Given the description of an element on the screen output the (x, y) to click on. 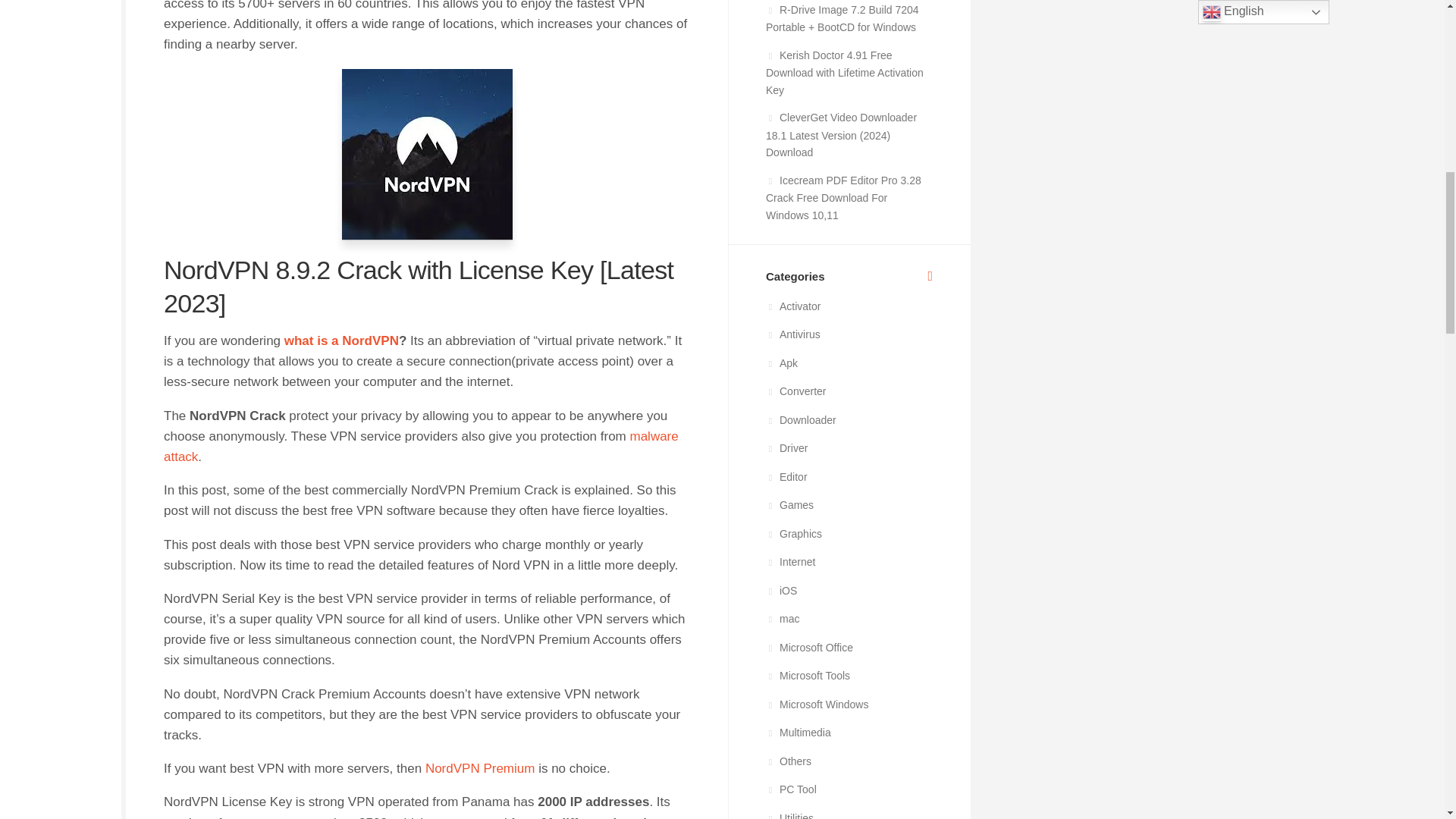
malware attack (420, 446)
NordVPN Premium (480, 768)
what is a NordVPN (340, 340)
